Given the description of an element on the screen output the (x, y) to click on. 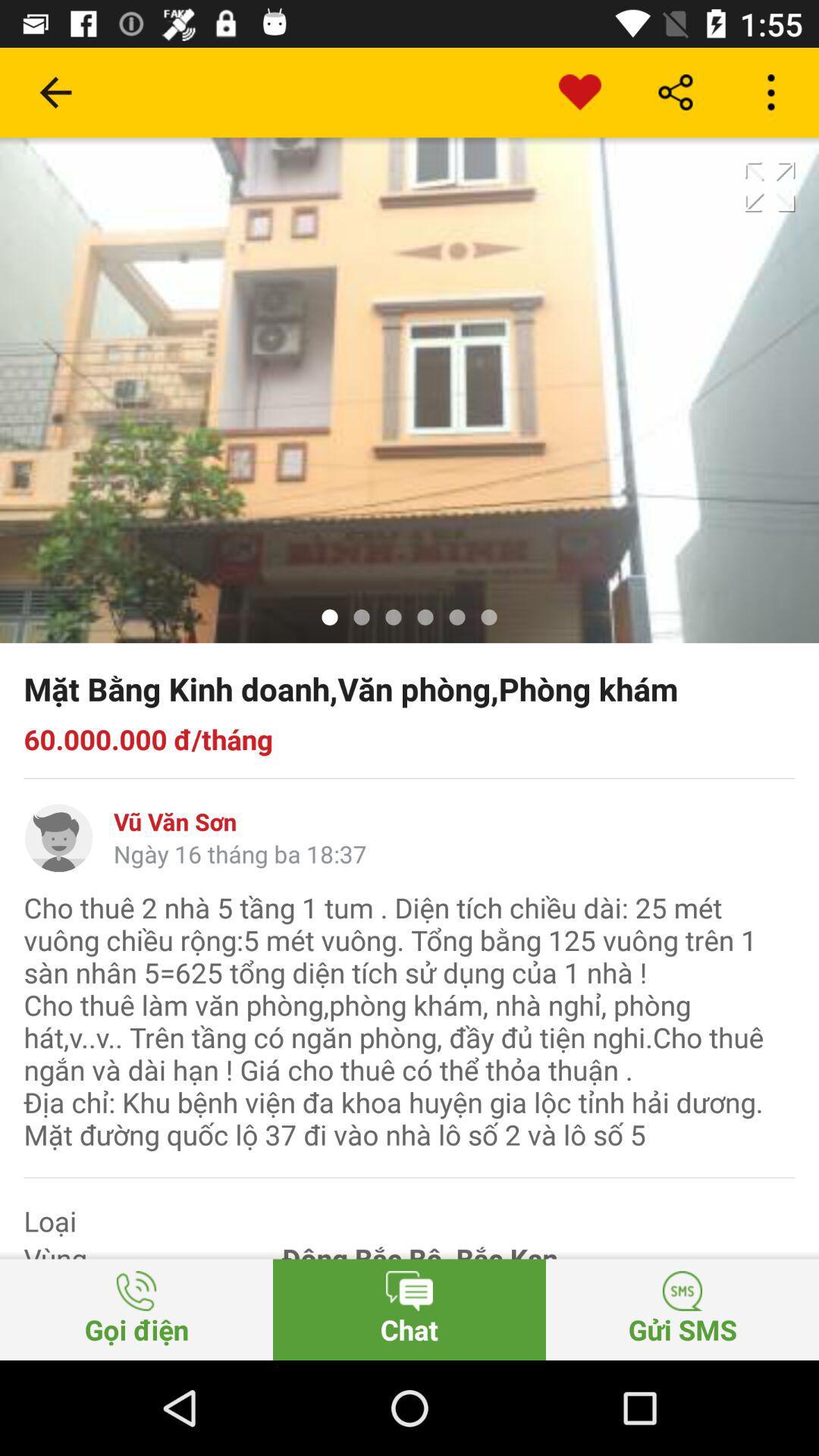
swipe until chat (409, 1309)
